Given the description of an element on the screen output the (x, y) to click on. 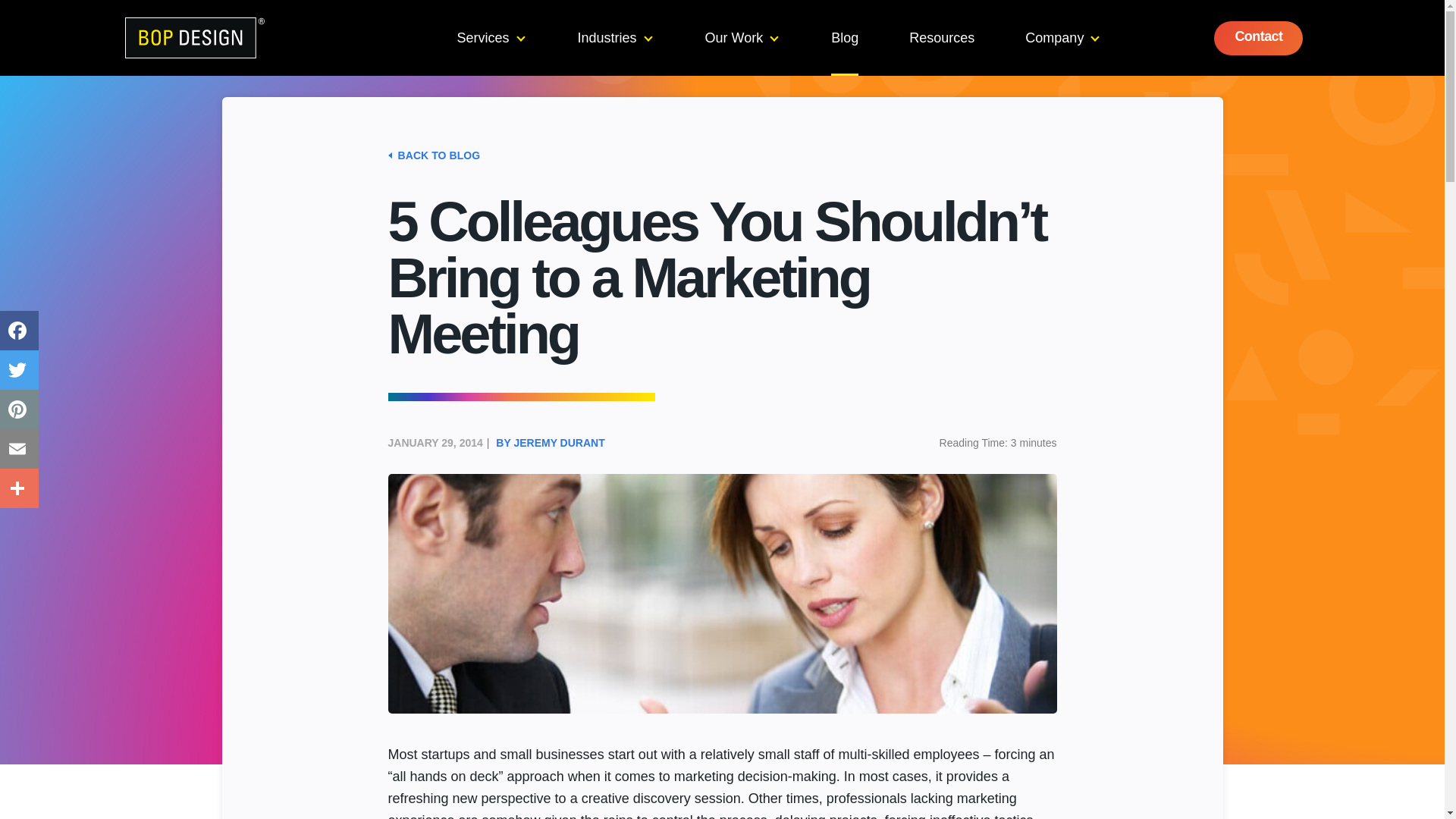
Services (490, 37)
Industries (615, 37)
Pinterest (19, 409)
Email (19, 448)
Facebook (19, 330)
Twitter (19, 369)
Our Work (741, 37)
